Given the description of an element on the screen output the (x, y) to click on. 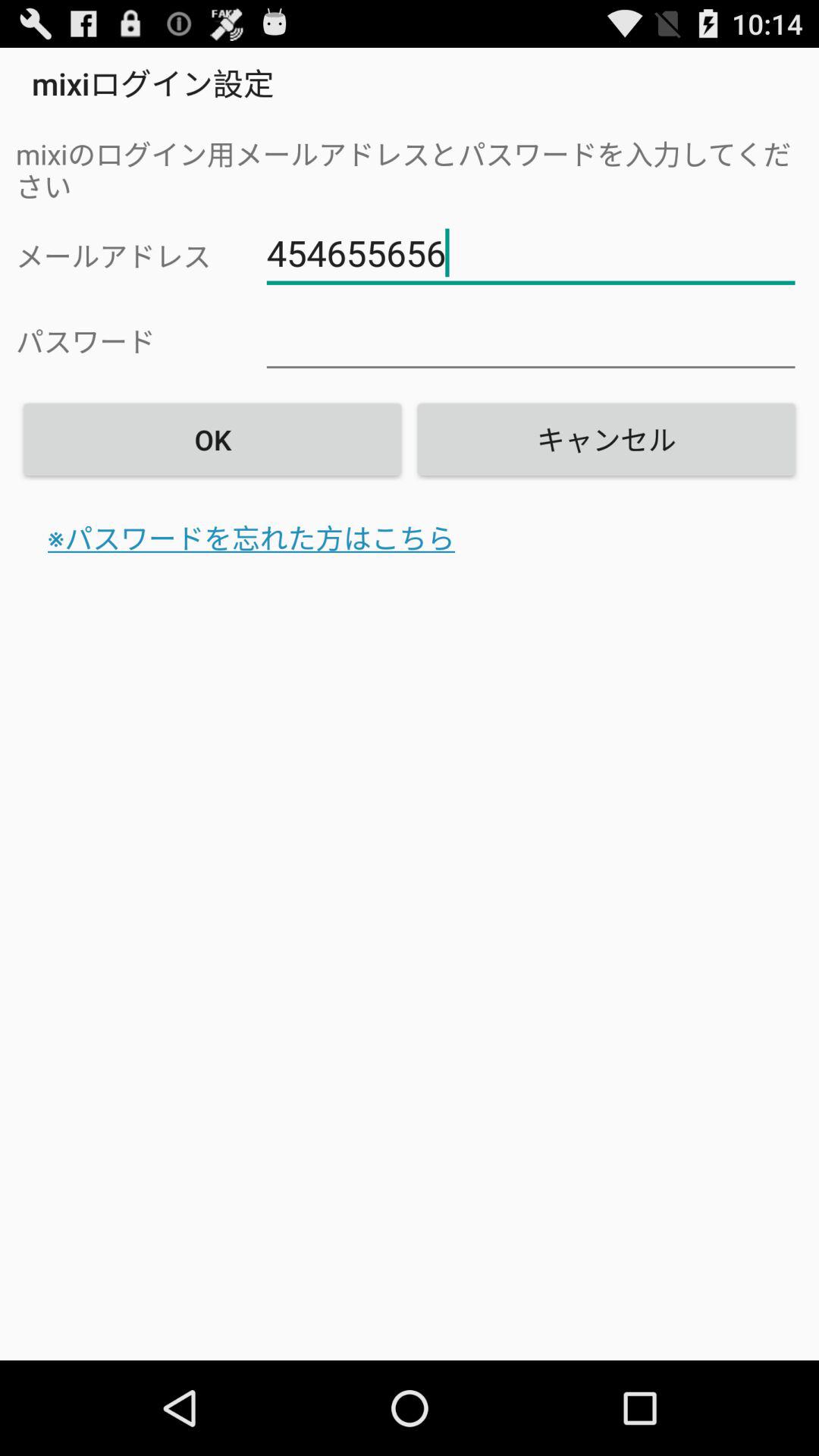
turn on icon below ok (251, 537)
